Given the description of an element on the screen output the (x, y) to click on. 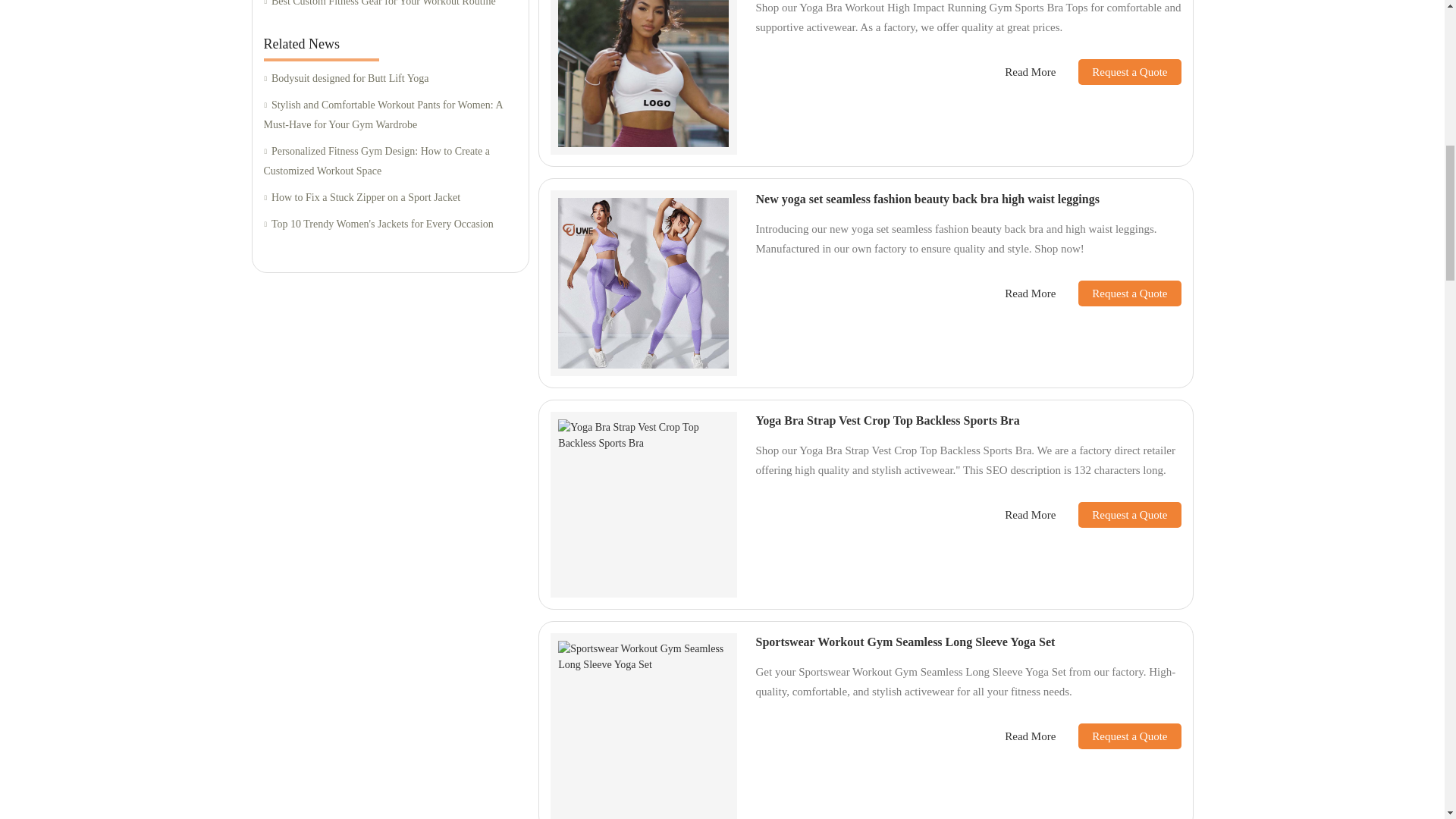
Request a Quote (1117, 71)
Best Custom Fitness Gear for Your Workout Routine (389, 6)
Bodysuit designed for Butt Lift Yoga (389, 78)
Read More (1029, 72)
How to Fix a Stuck Zipper on a Sport Jacket (389, 198)
Top 10 Trendy Women's Jackets for Every Occasion (389, 224)
